Given the description of an element on the screen output the (x, y) to click on. 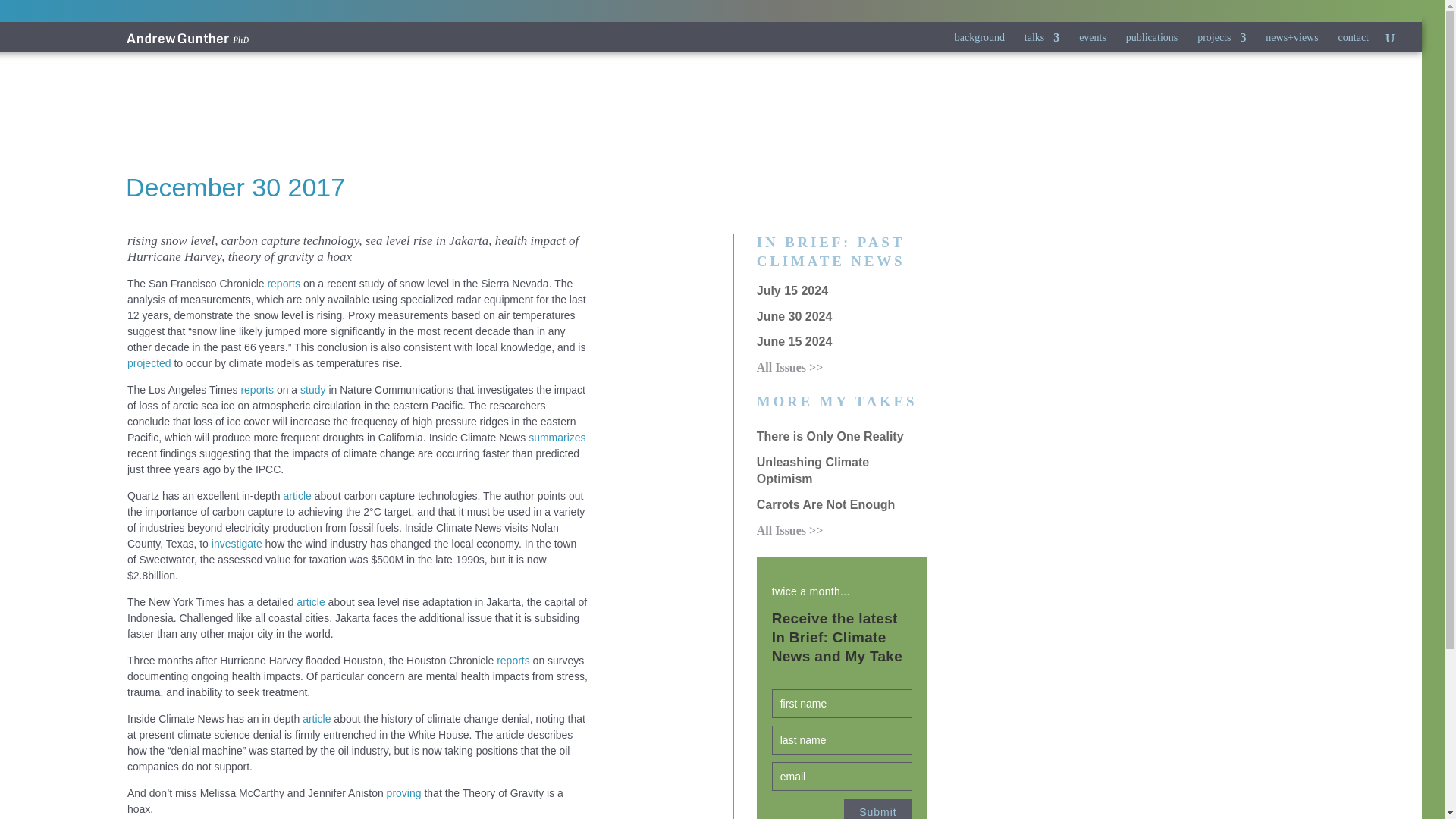
June 30 2024 (794, 316)
reports (282, 283)
contact (1353, 43)
article (316, 718)
proving (404, 793)
article (310, 602)
July 15 2024 (792, 290)
talks (1042, 43)
publications (1151, 43)
events (1092, 43)
investigate (236, 543)
reports (256, 389)
summarizes (556, 437)
June 15 2024 (794, 341)
background (979, 43)
